Given the description of an element on the screen output the (x, y) to click on. 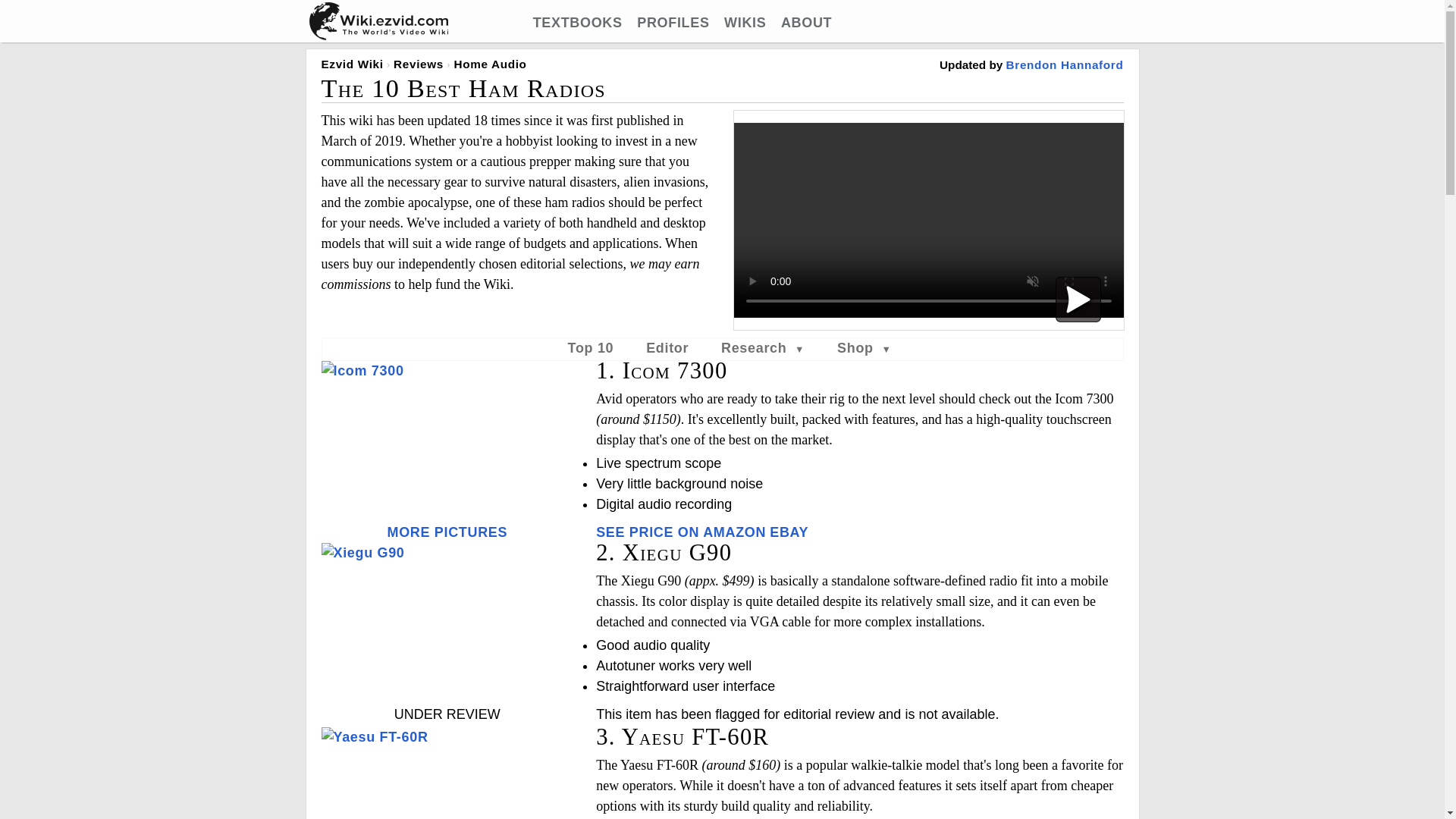
PROFILES (673, 22)
Reviews (418, 63)
EBAY (789, 531)
TEXTBOOKS (577, 22)
Ezvid Wiki (352, 63)
Home Audio (488, 63)
SEE PRICE ON AMAZON (680, 531)
Top 10 (590, 347)
WIKIS (744, 22)
ABOUT (805, 22)
